Given the description of an element on the screen output the (x, y) to click on. 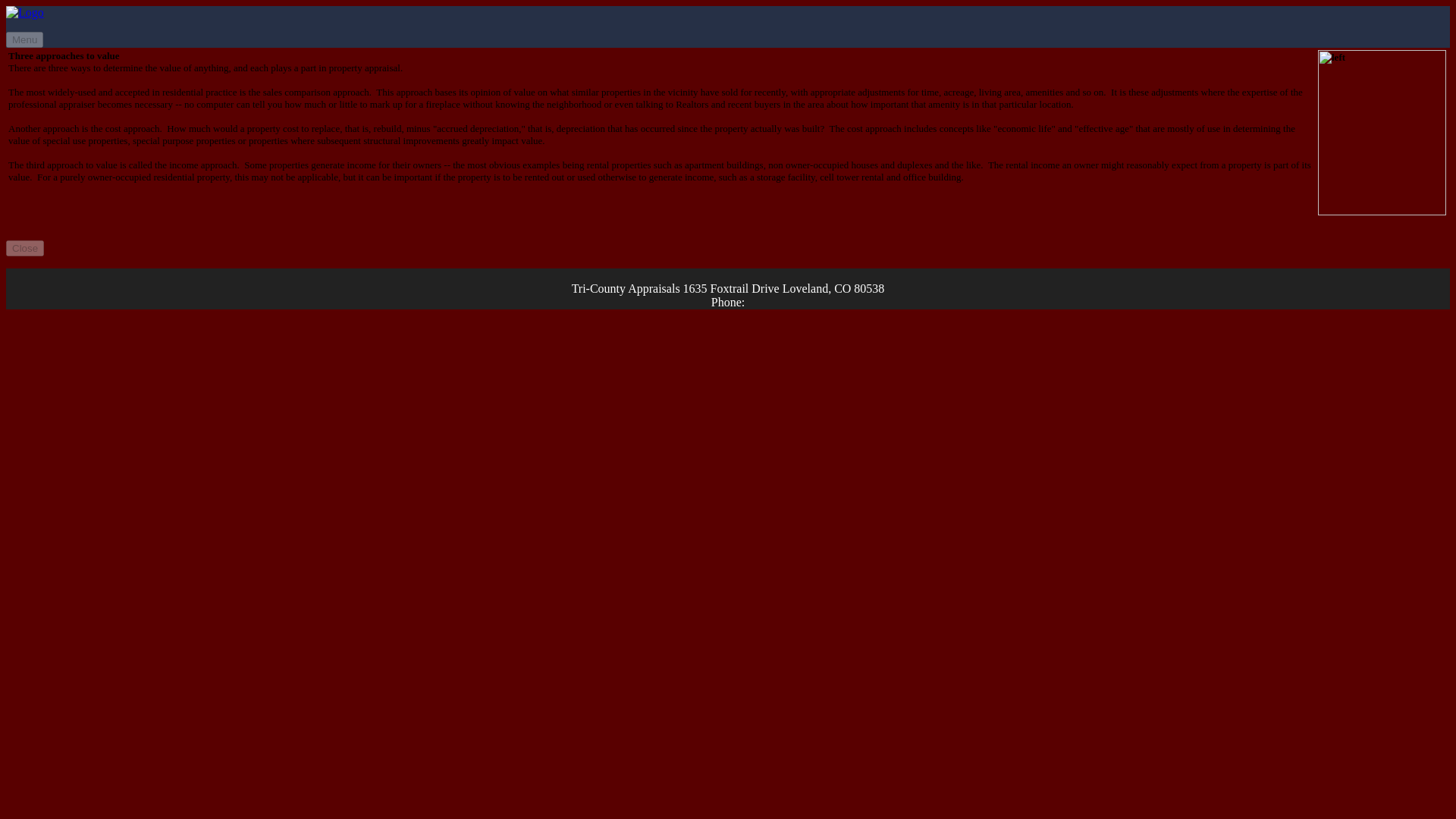
Menu (24, 39)
Close (24, 248)
